Given the description of an element on the screen output the (x, y) to click on. 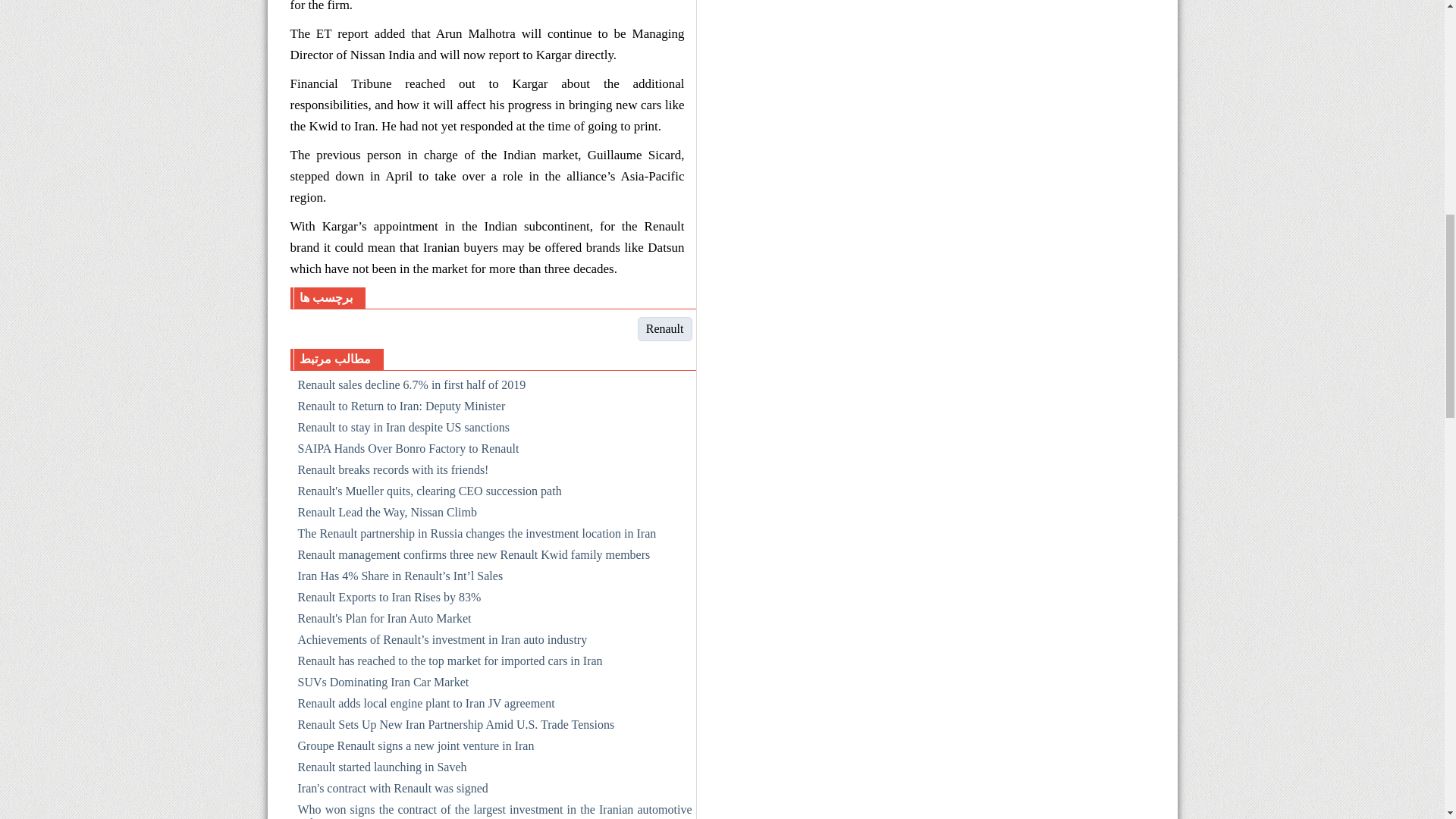
Renault's Mueller quits, clearing CEO succession path (494, 494)
Renault adds local engine plant to Iran JV agreement (494, 706)
Groupe Renault signs a new joint venture in Iran (494, 749)
Renault started launching in Saveh (494, 770)
SUVs Dominating Iran Car Market (494, 685)
Renault to stay in Iran despite US sanctions (494, 430)
Renault to Return to Iran: Deputy Minister (494, 409)
Renault Lead the Way, Nissan Climb (494, 515)
SAIPA Hands Over Bonro Factory to Renault (494, 451)
Renault breaks records with its friends! (494, 473)
Renault's Plan for Iran Auto Market (494, 621)
